Given the description of an element on the screen output the (x, y) to click on. 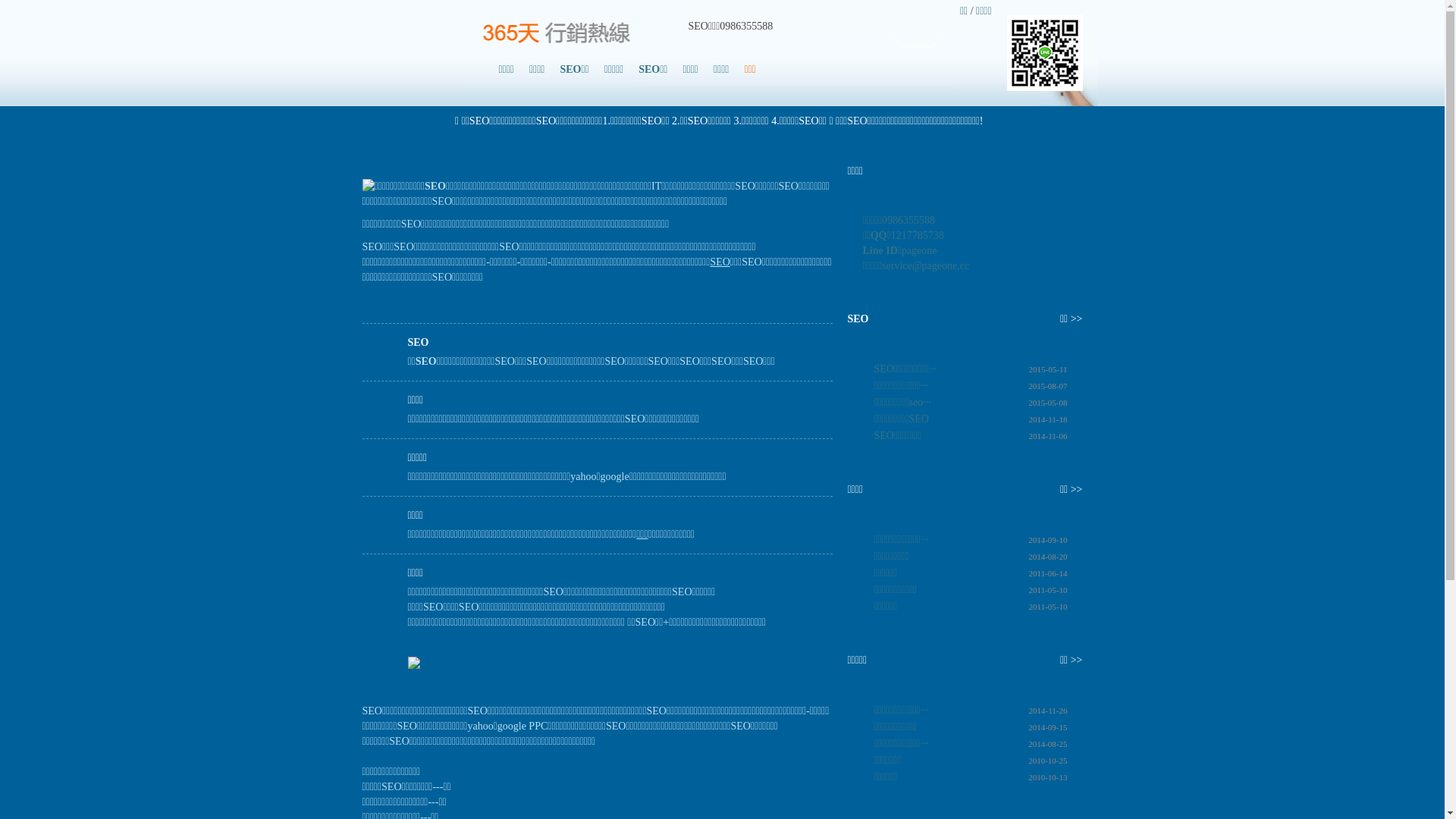
SEO Line Element type: hover (1044, 53)
